Given the description of an element on the screen output the (x, y) to click on. 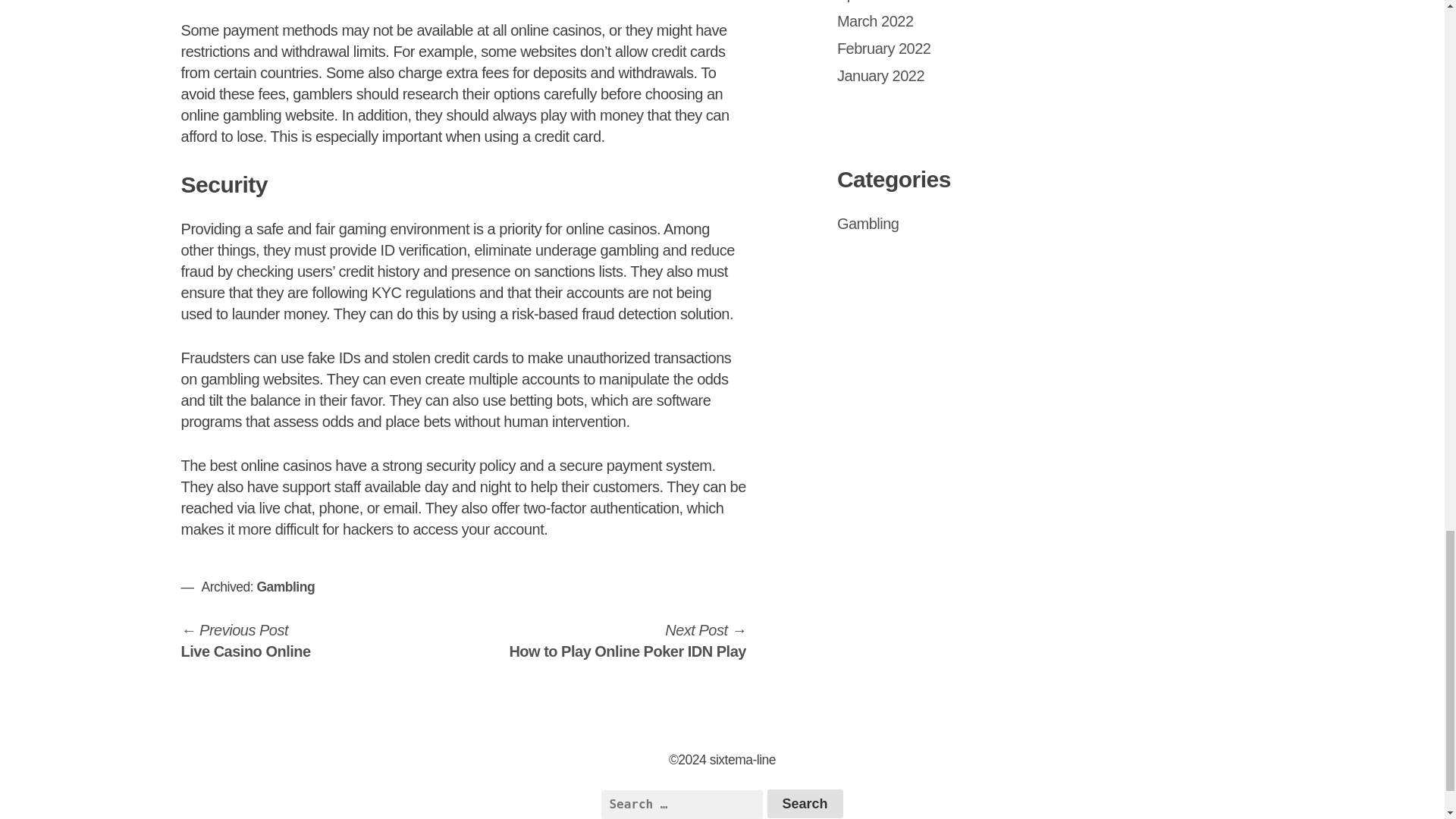
Search (805, 803)
Search (805, 803)
Gambling (626, 640)
